Given the description of an element on the screen output the (x, y) to click on. 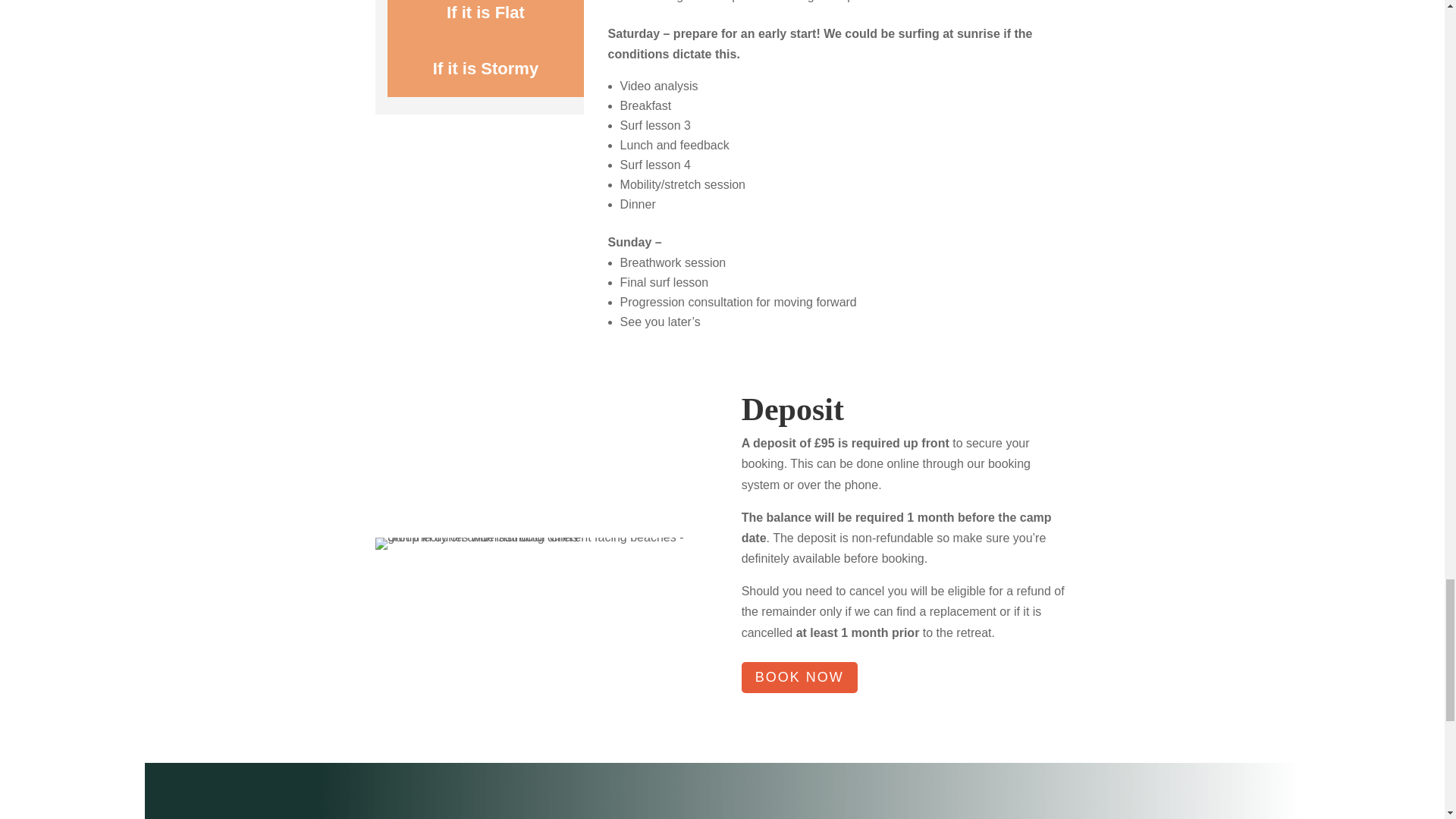
If it is Flat (485, 20)
If it is Stormy (485, 68)
BOOK NOW (799, 676)
1E23D4E4-3509-4320-BCF1-218DB1E41686 (539, 543)
